Given the description of an element on the screen output the (x, y) to click on. 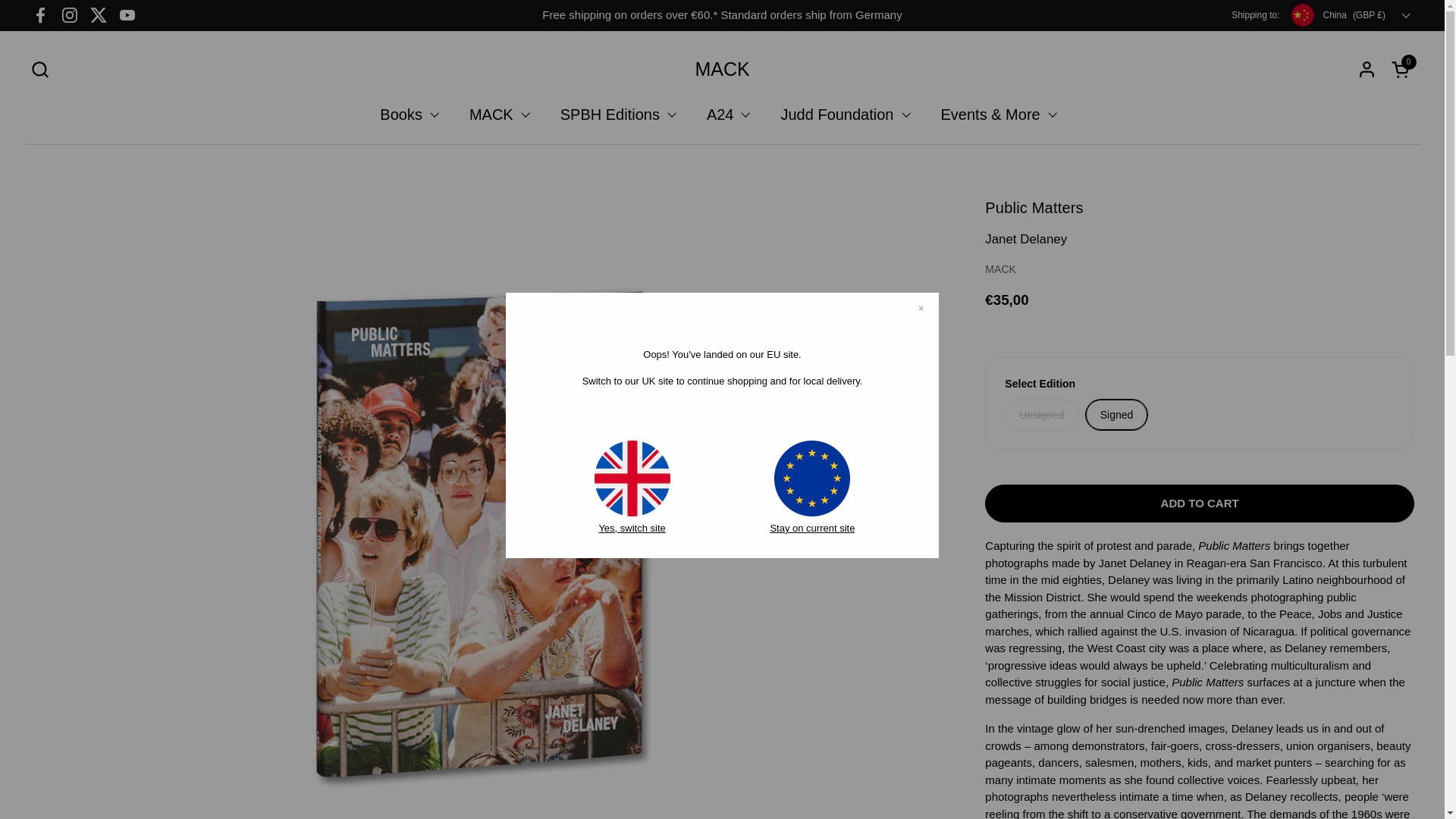
Open cart (1402, 67)
Instagram (69, 14)
MACK (721, 67)
Facebook (40, 14)
YouTube (127, 14)
Twitter (98, 14)
Open search (39, 67)
